Given the description of an element on the screen output the (x, y) to click on. 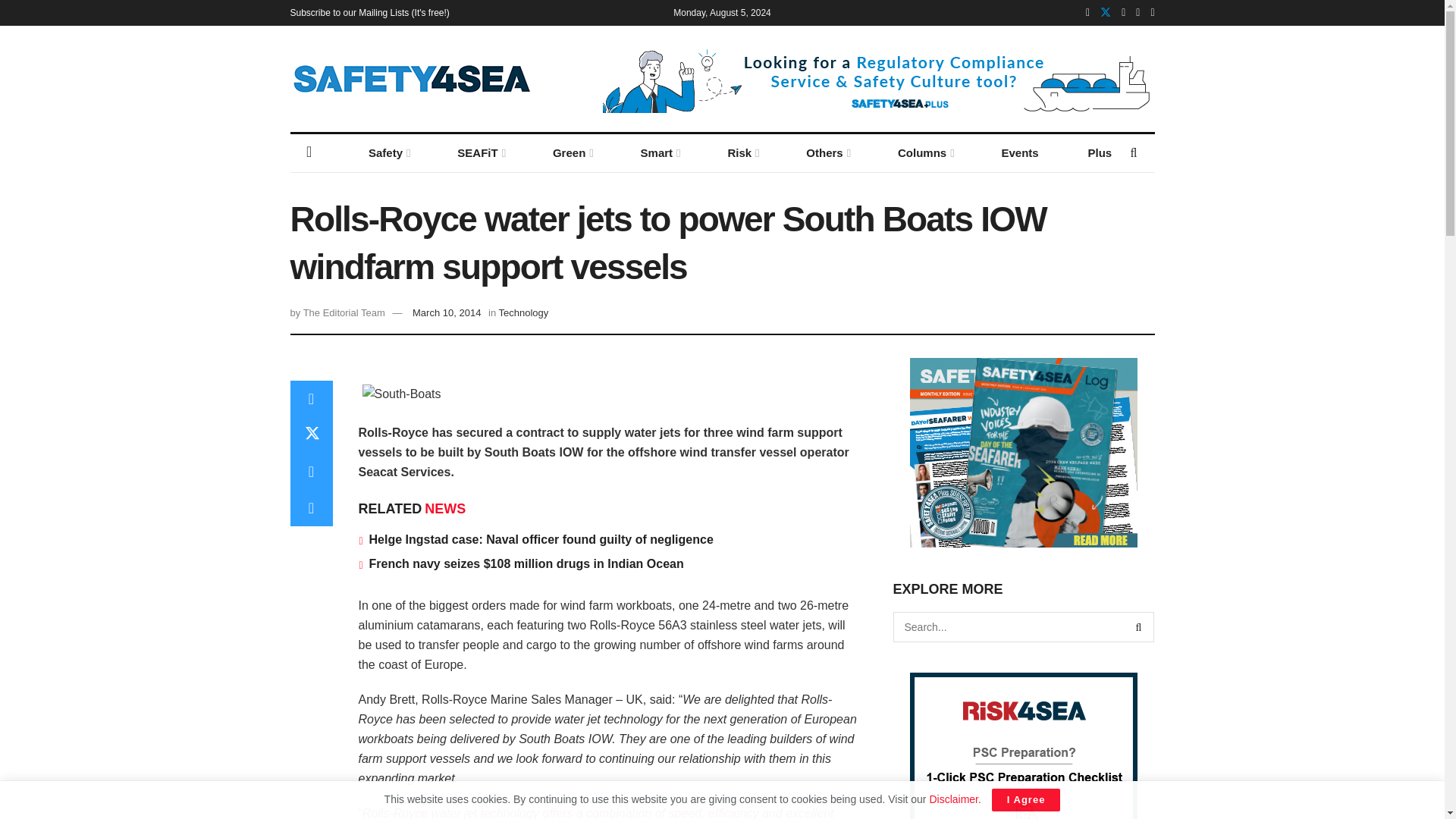
South-Boats (401, 394)
Safety (388, 152)
SEAFiT (480, 152)
